Given the description of an element on the screen output the (x, y) to click on. 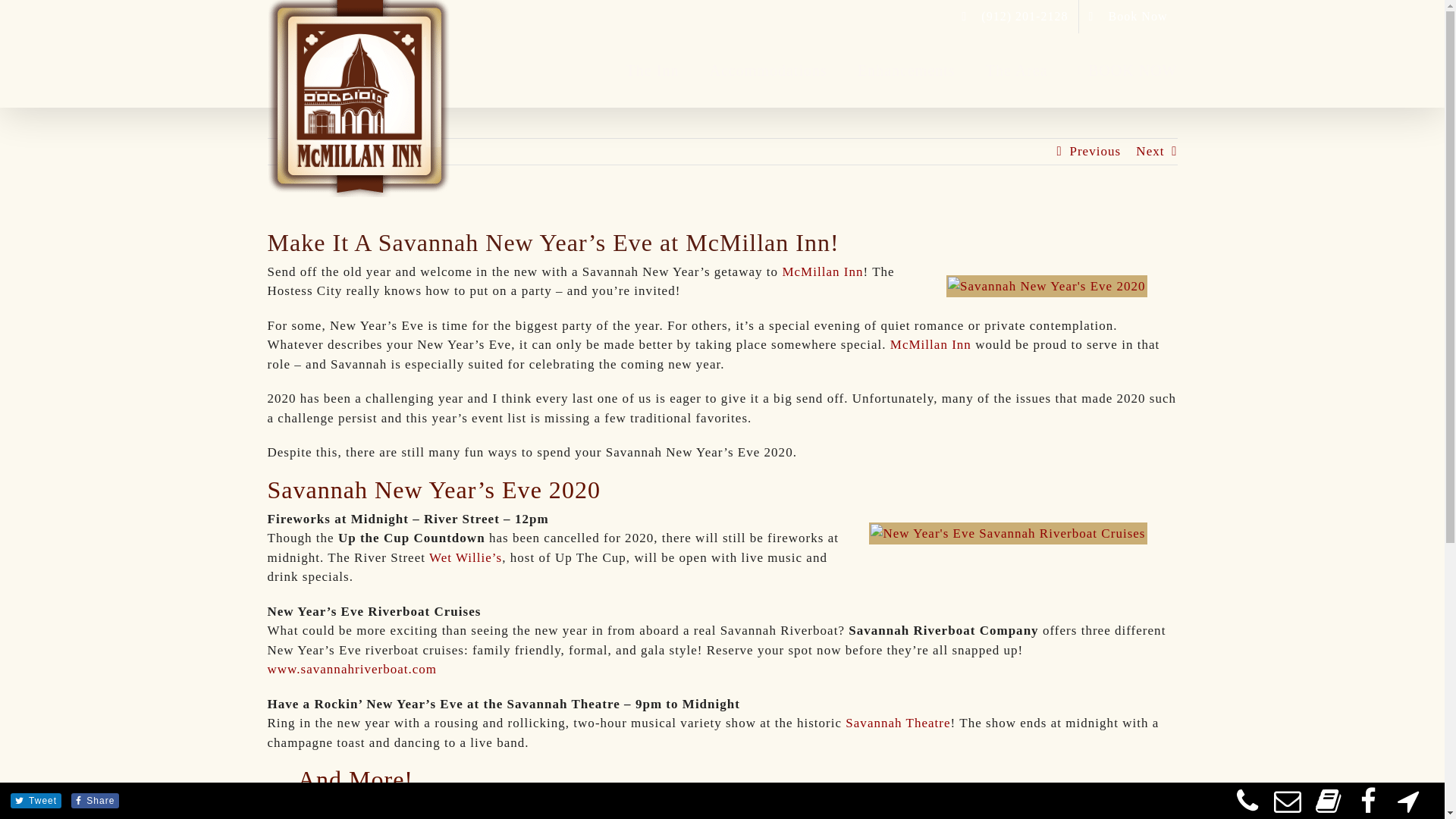
Savannah Theatre (897, 722)
BOOK NOW (1127, 70)
McMillan Inn (930, 344)
McMillan Inn (822, 271)
www.savannahriverboat.com (351, 668)
Accommodations (768, 70)
Book Now (1127, 16)
Next (1149, 151)
Enhancements (906, 70)
Previous (1094, 151)
